Given the description of an element on the screen output the (x, y) to click on. 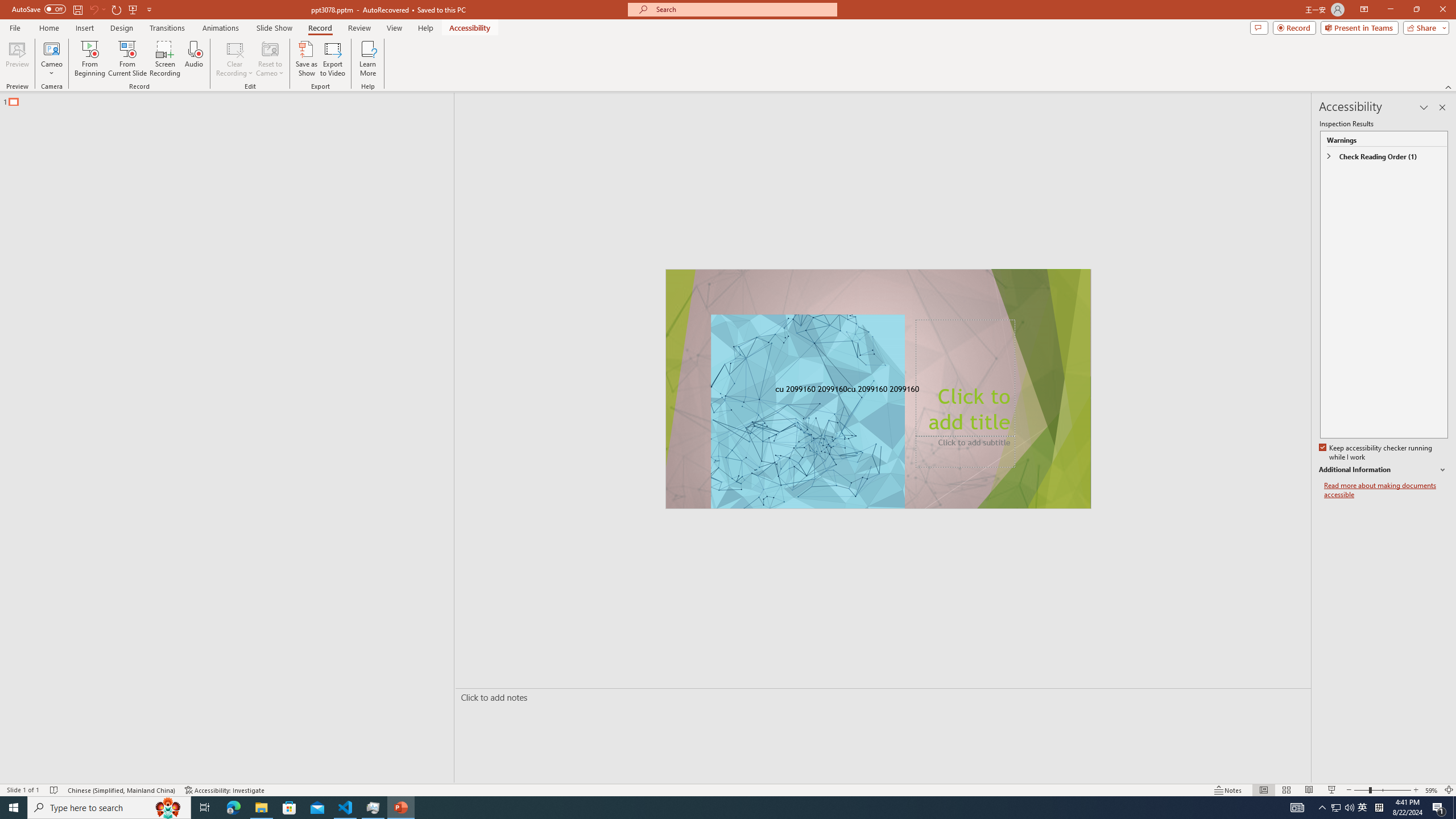
Additional Information (1383, 469)
Zoom 59% (1431, 790)
Learn More (368, 58)
Export to Video (332, 58)
TextBox 61 (877, 389)
